Given the description of an element on the screen output the (x, y) to click on. 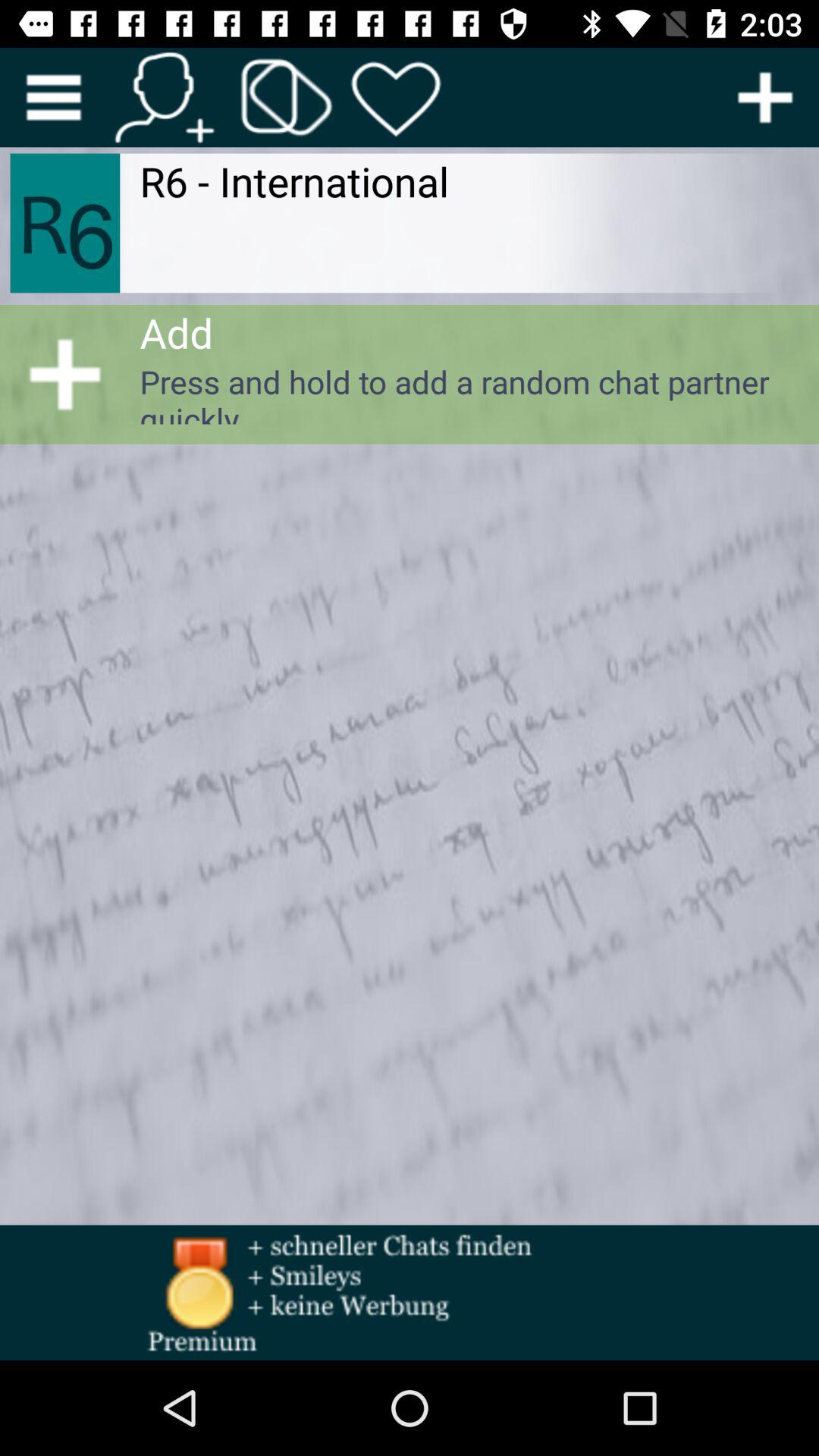
more (53, 97)
